Given the description of an element on the screen output the (x, y) to click on. 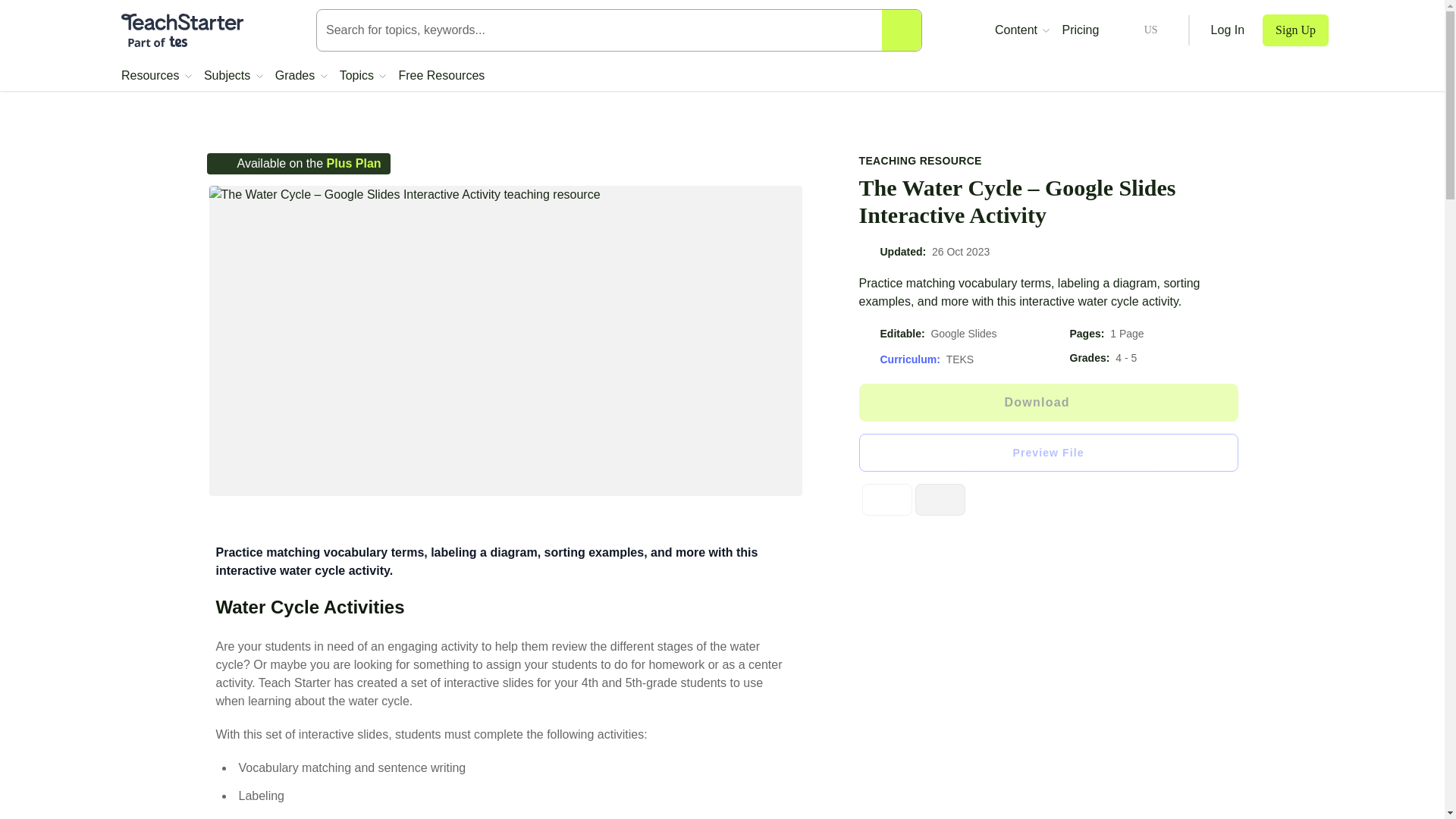
Back to homepage (181, 29)
Log in to your account (1227, 30)
Resources (156, 75)
Log In (1227, 30)
Grades  (301, 75)
Pricing (1080, 30)
Teach Starter, part of Tes (181, 29)
Blog, podcast, and webinars (1021, 30)
Resources  (156, 75)
Subjects  (233, 75)
Sign Up (1294, 29)
Create a Teach Starter account (1294, 29)
Content  (1021, 30)
US (1138, 30)
Change location (1138, 30)
